Given the description of an element on the screen output the (x, y) to click on. 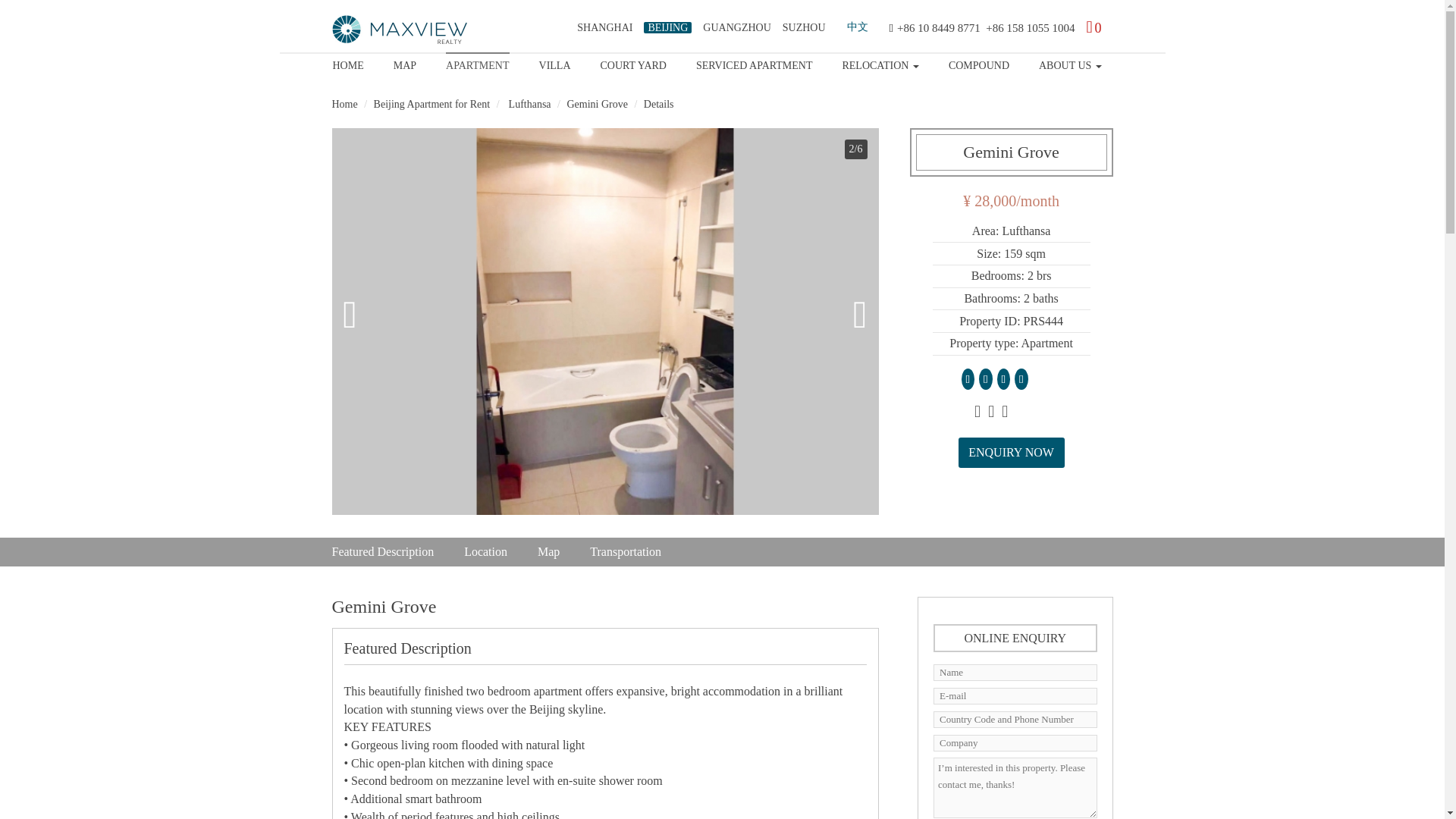
SHANGHAI (603, 27)
Beijing Apartment for Rent (432, 103)
HOME (346, 62)
Home (344, 103)
Villas (554, 62)
Property map (404, 62)
Shanghai (603, 27)
RELOCATION (879, 62)
Serviced apartments (753, 62)
Apartments (476, 62)
Beijing Relocation (879, 62)
Guangzhou (736, 27)
GUANGZHOU (736, 27)
ENQUIRY NOW (1011, 452)
ABOUT US (1070, 62)
